Given the description of an element on the screen output the (x, y) to click on. 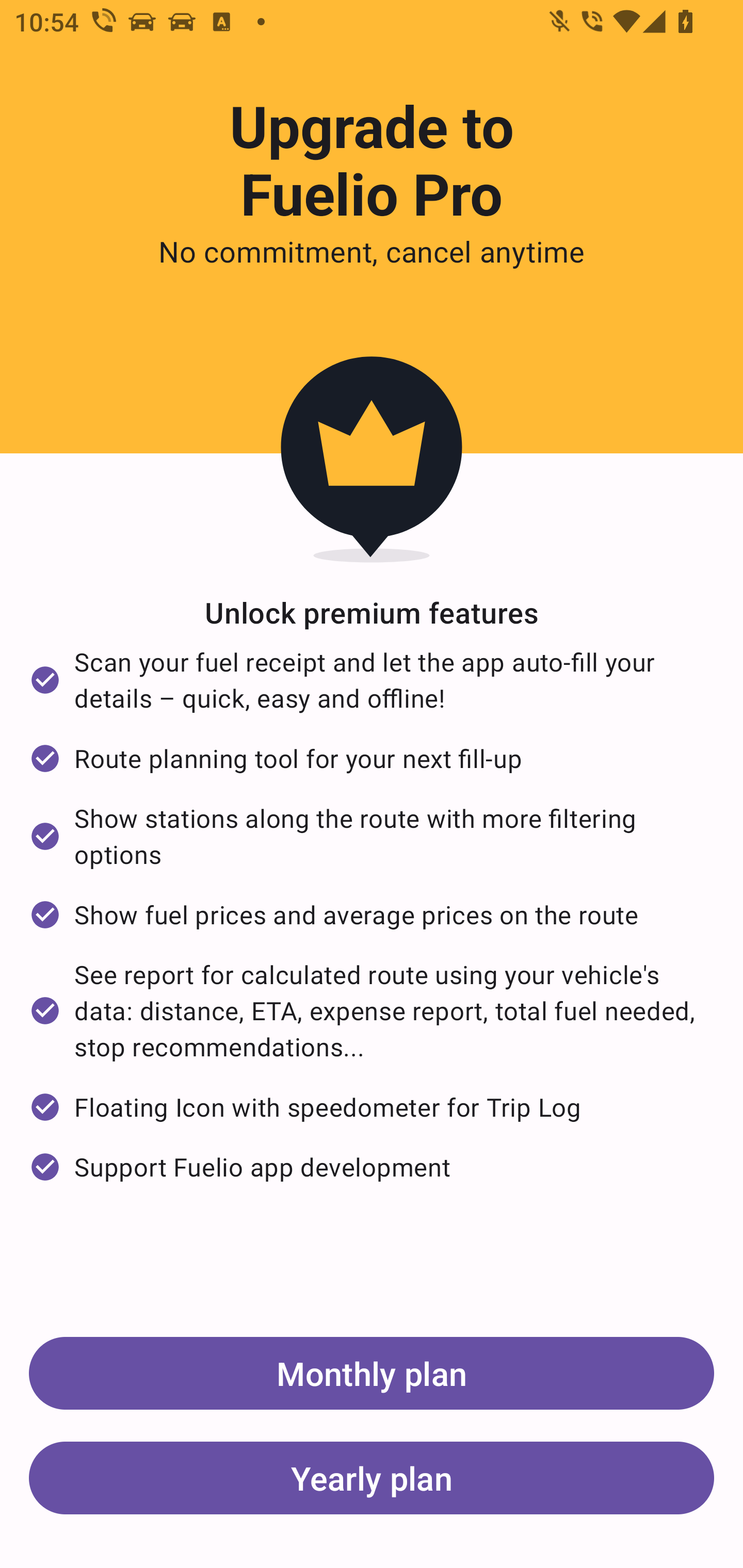
Monthly plan (371, 1373)
Yearly plan (371, 1477)
